Given the description of an element on the screen output the (x, y) to click on. 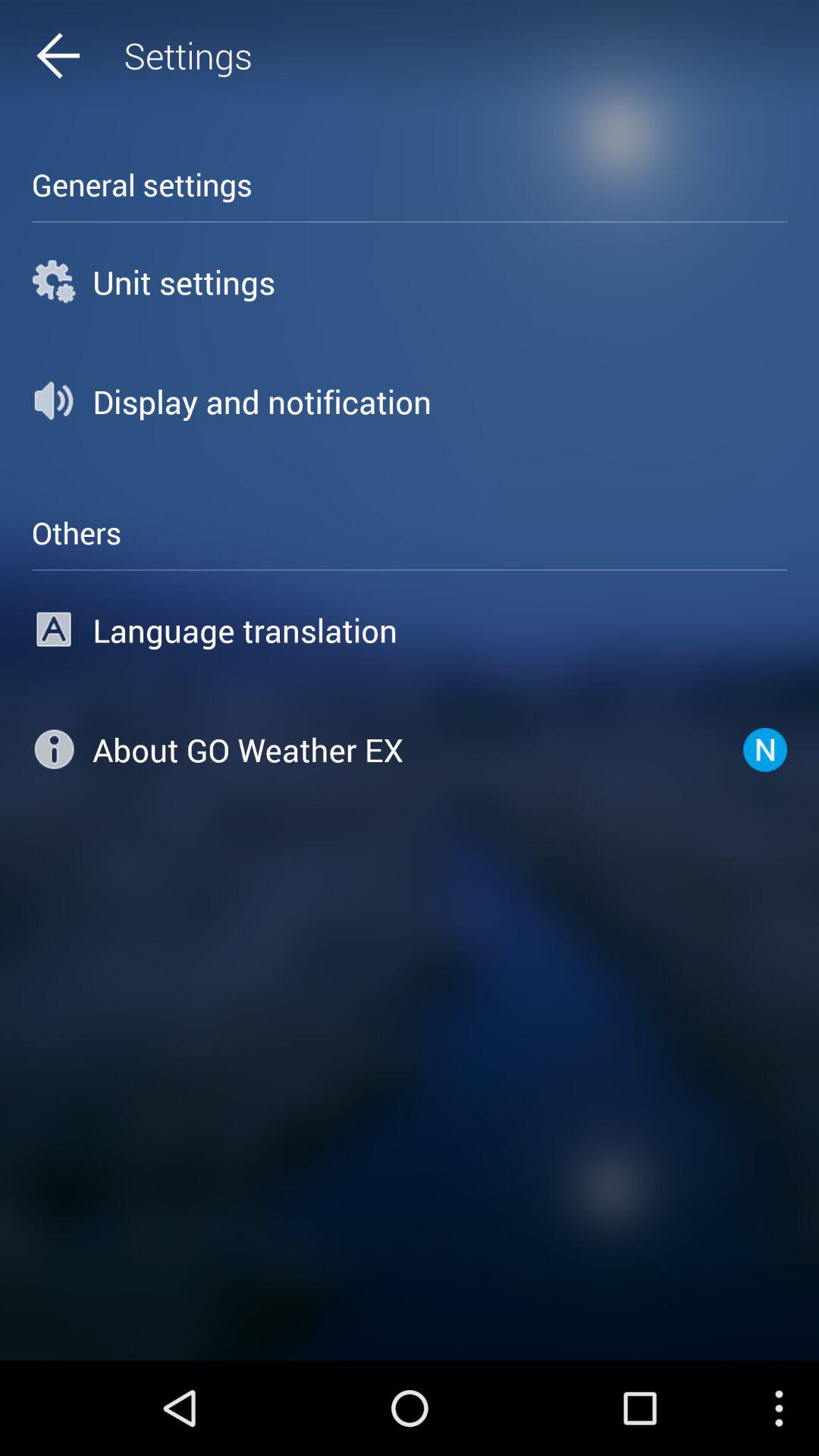
choose icon below unit settings icon (409, 401)
